Given the description of an element on the screen output the (x, y) to click on. 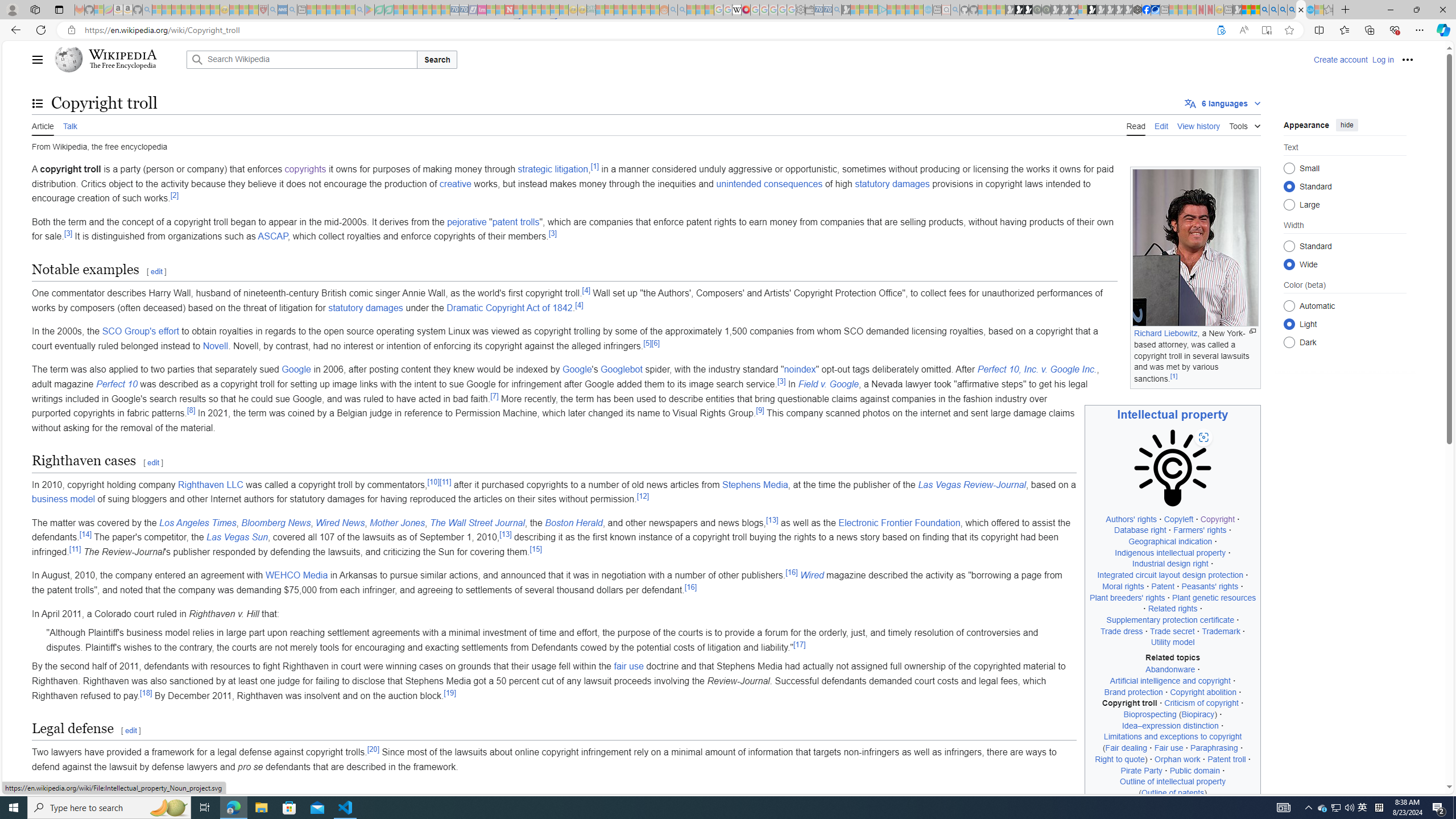
Read (1135, 124)
Trade secret (1172, 630)
Personal tools (1407, 59)
Create account (1340, 58)
ASCAP (272, 236)
[4] (579, 304)
Standard (1289, 245)
Mother Jones (397, 522)
